Given the description of an element on the screen output the (x, y) to click on. 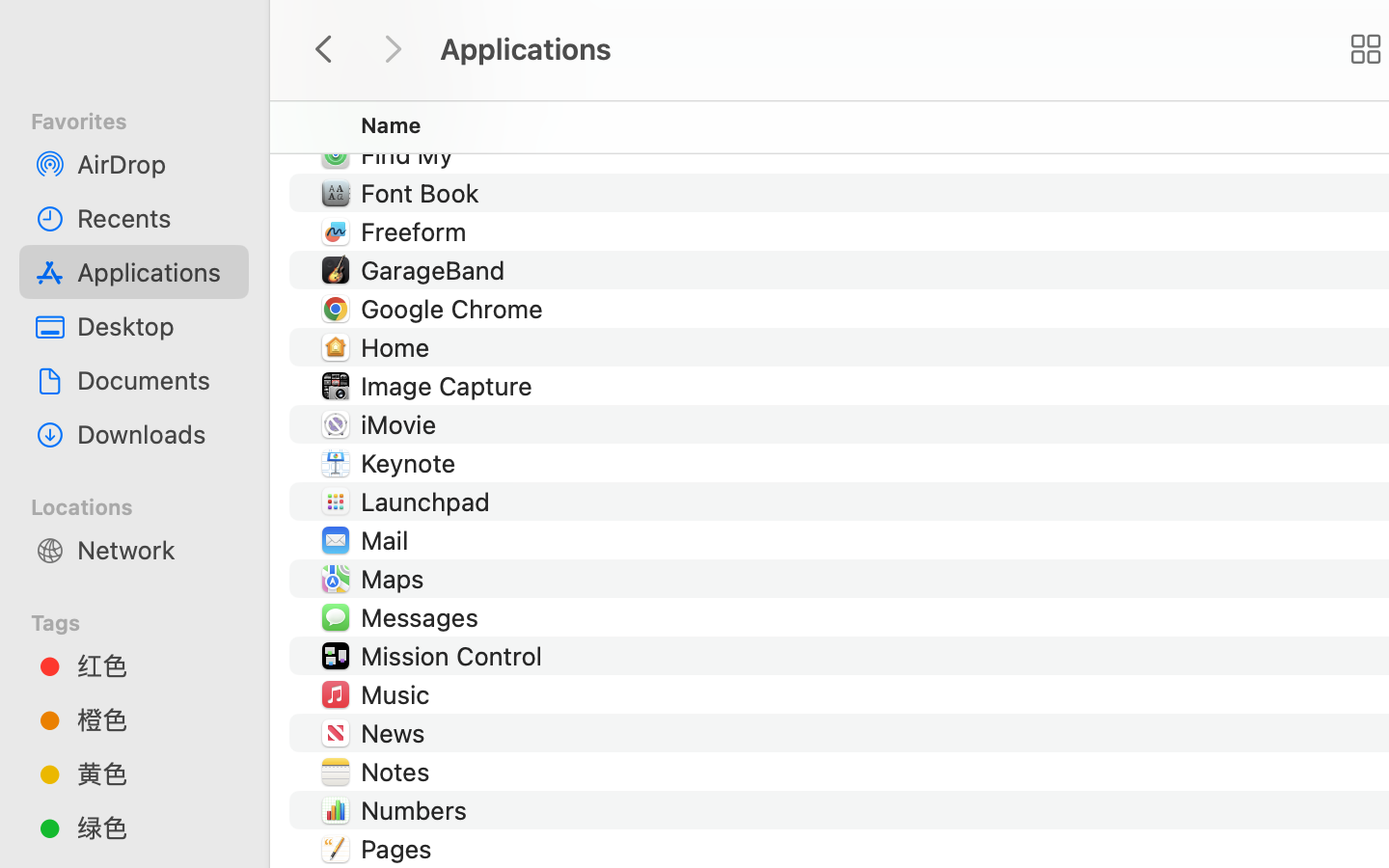
Find My Element type: AXTextField (410, 153)
Image Capture Element type: AXTextField (450, 385)
